Given the description of an element on the screen output the (x, y) to click on. 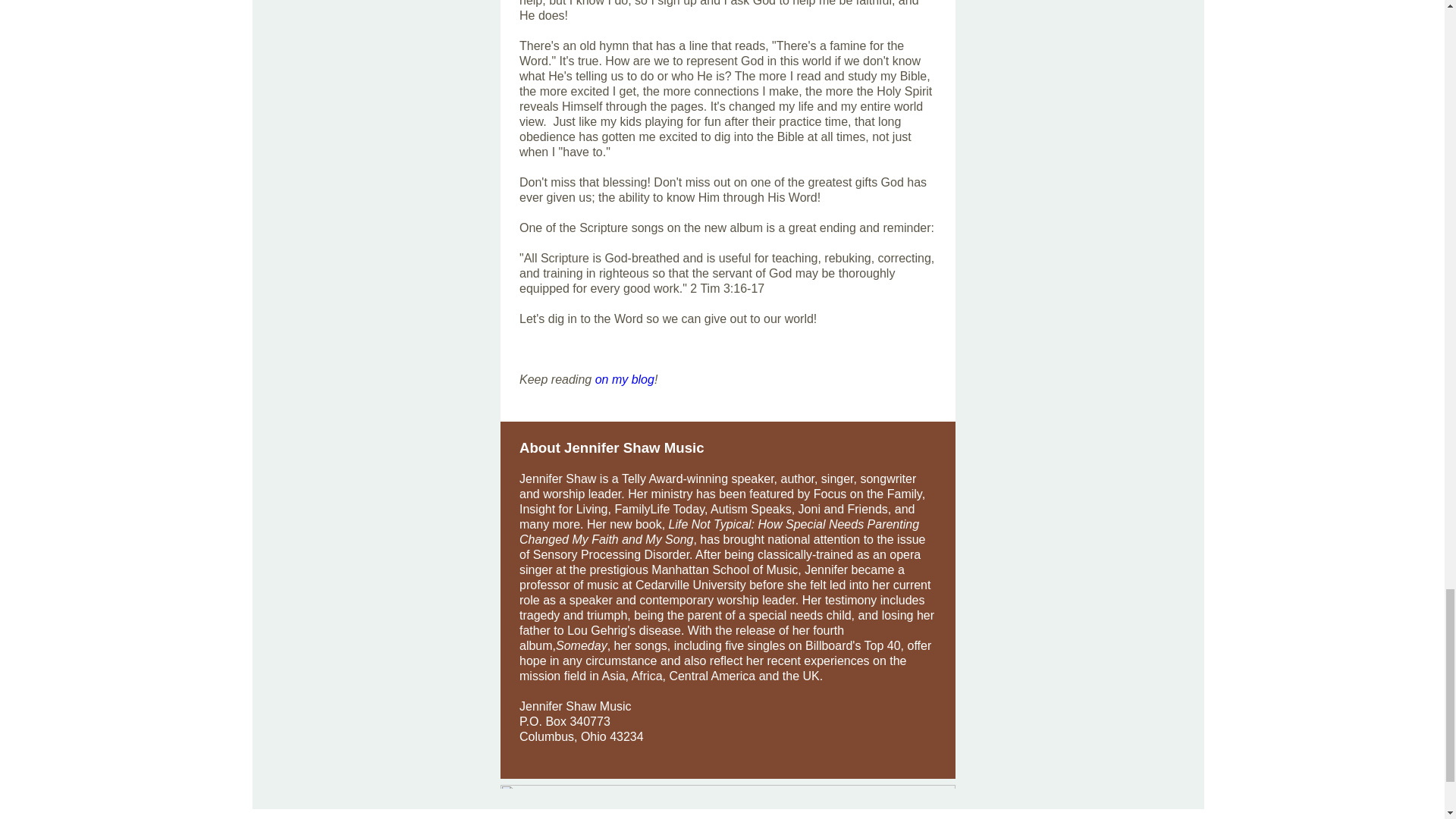
on my blog (624, 379)
